Given the description of an element on the screen output the (x, y) to click on. 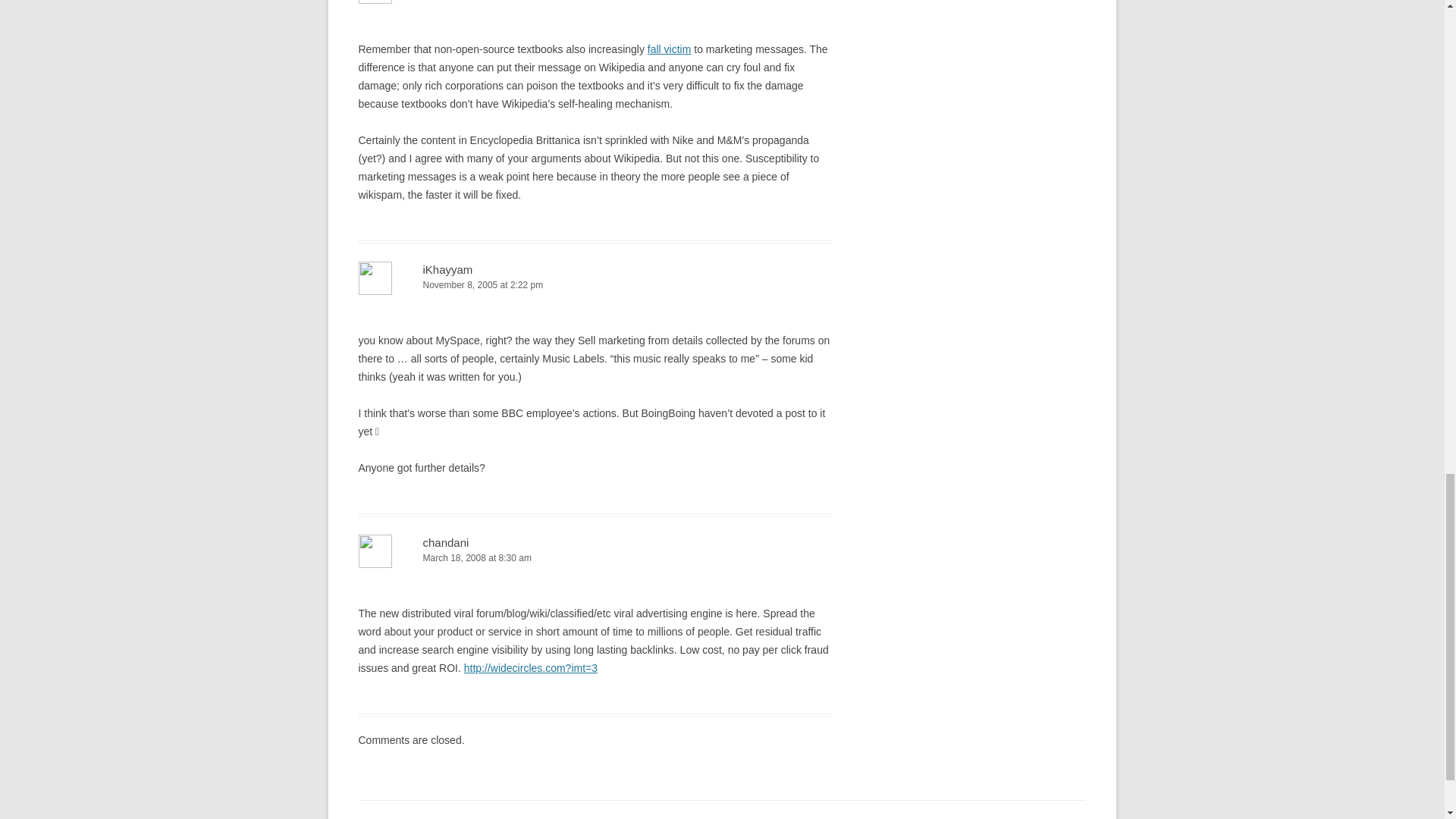
March 18, 2008 at 8:30 am (594, 558)
chandani (445, 542)
fall victim (669, 49)
November 8, 2005 at 2:22 pm (594, 285)
iKhayyam (448, 269)
